Given the description of an element on the screen output the (x, y) to click on. 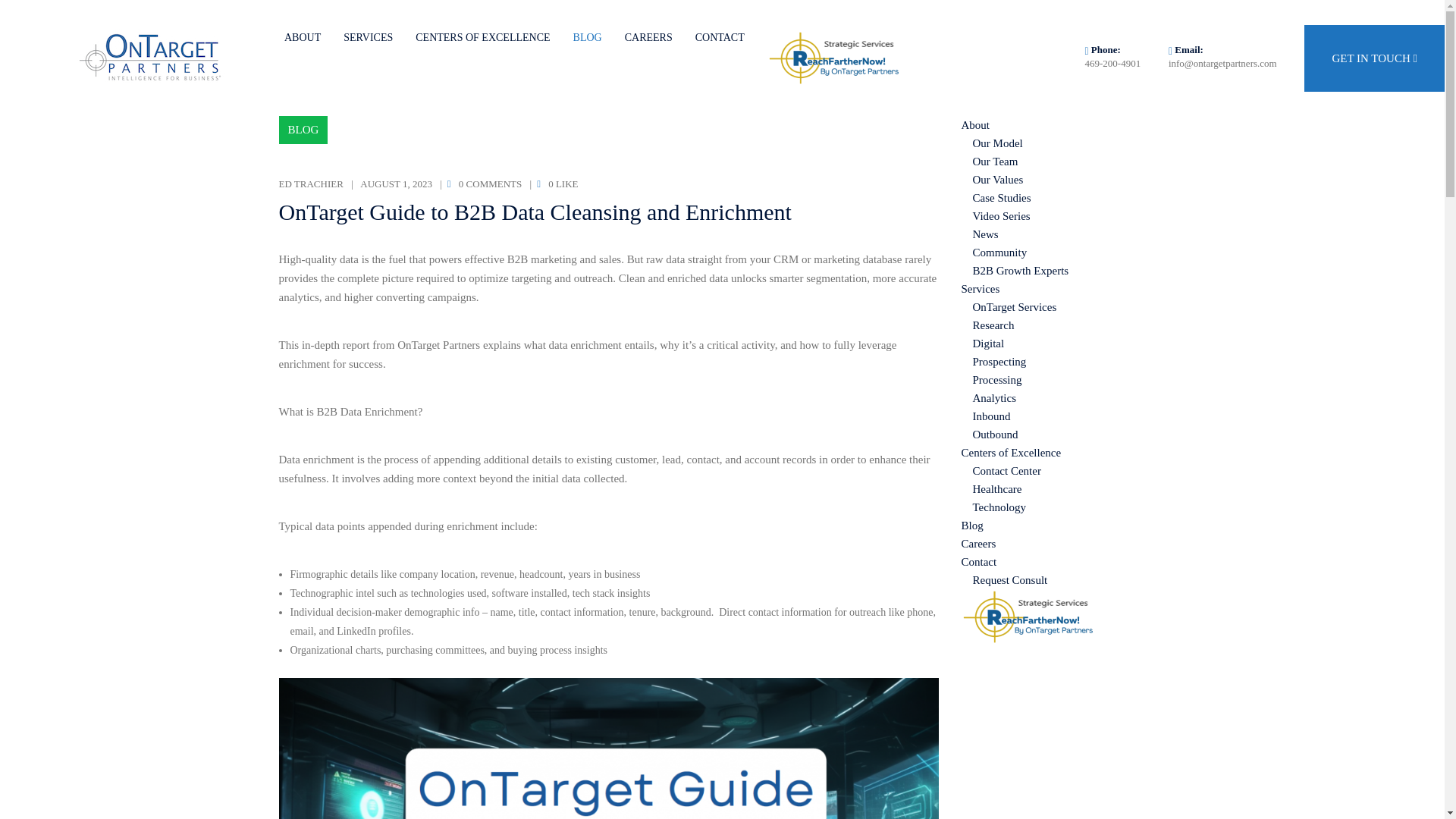
GET IN TOUCH (1374, 57)
BLOG (304, 130)
CONTACT (719, 38)
CENTERS OF EXCELLENCE (482, 38)
CAREERS (648, 38)
SERVICES (367, 38)
